Given the description of an element on the screen output the (x, y) to click on. 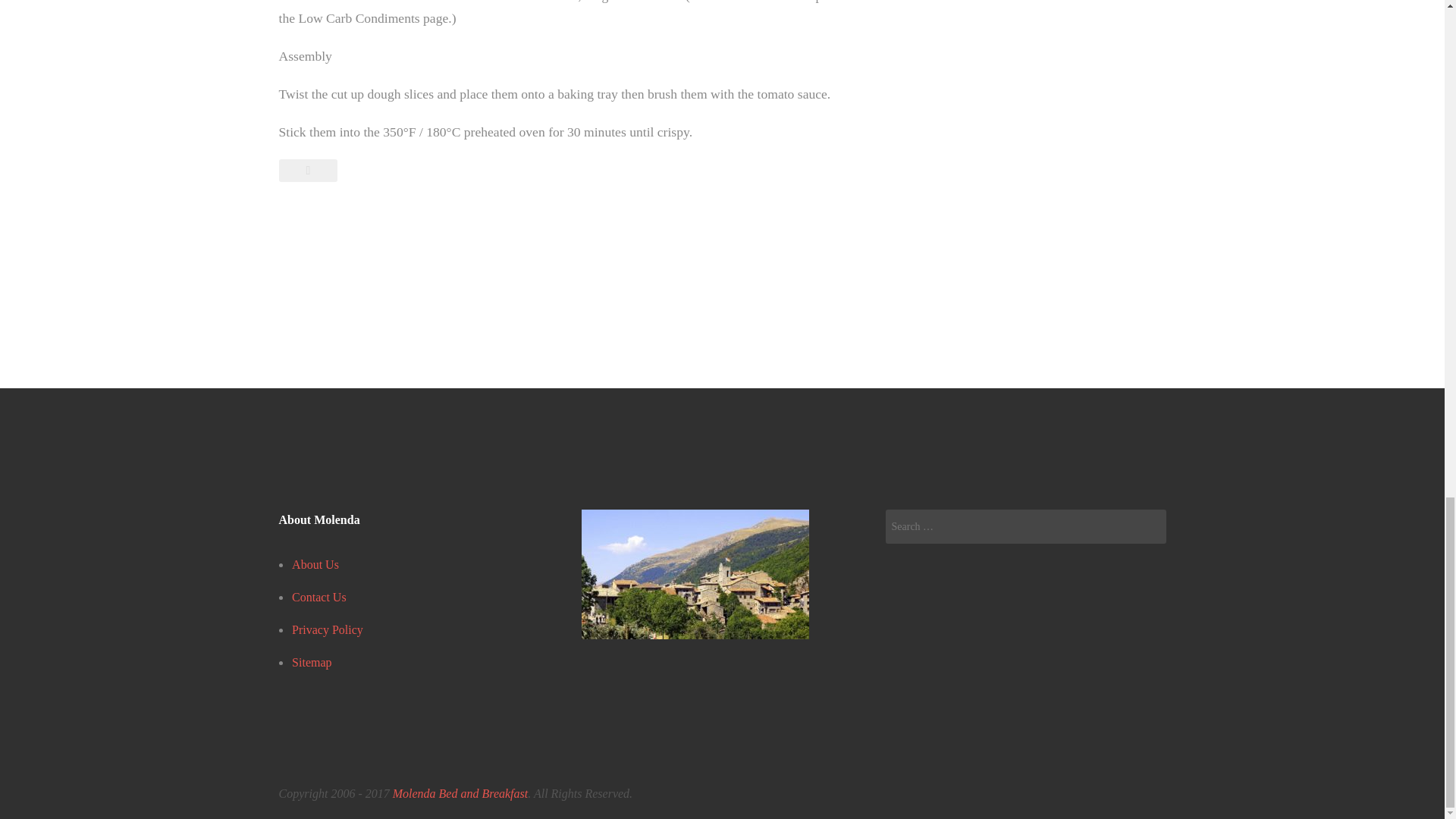
Molenda Bed and Breakfast (460, 793)
Privacy Policy (327, 629)
Contact Us (319, 596)
Sitemap (311, 662)
About Us (315, 563)
